Given the description of an element on the screen output the (x, y) to click on. 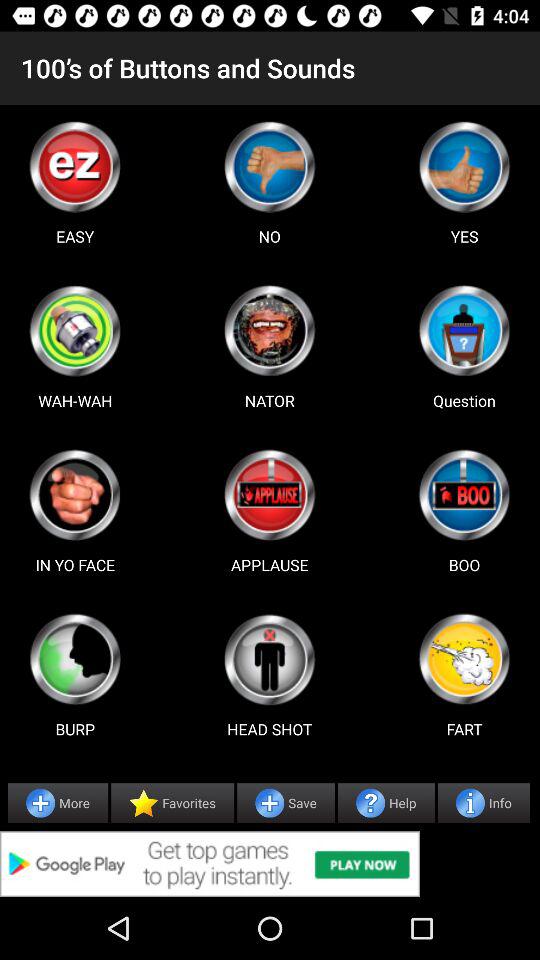
nator button/sound (269, 330)
